Given the description of an element on the screen output the (x, y) to click on. 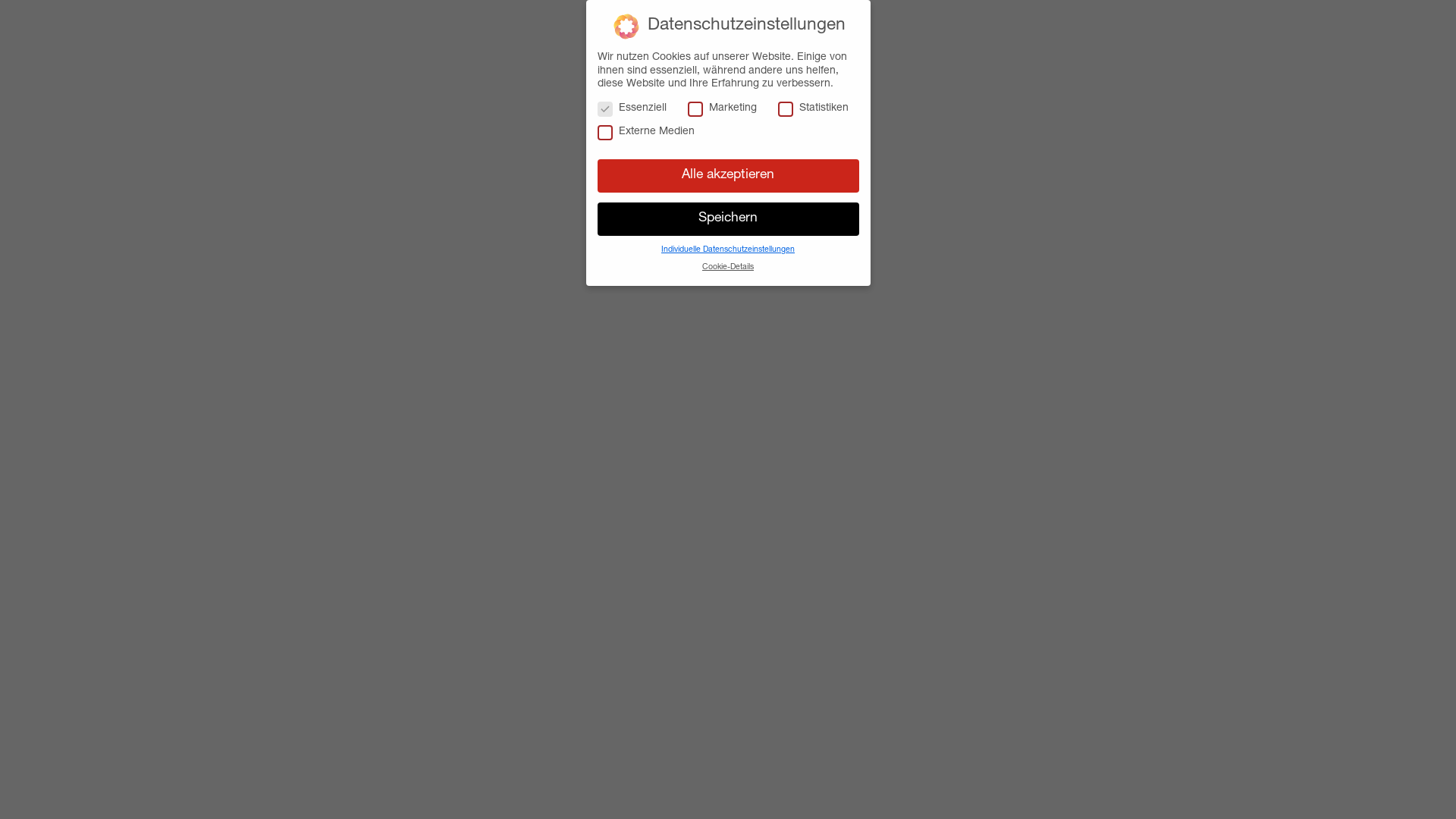
Cookie-Details Element type: text (727, 267)
Speichern Element type: text (728, 218)
Alle akzeptieren Element type: text (728, 175)
Individuelle Datenschutzeinstellungen Element type: text (727, 250)
